Given the description of an element on the screen output the (x, y) to click on. 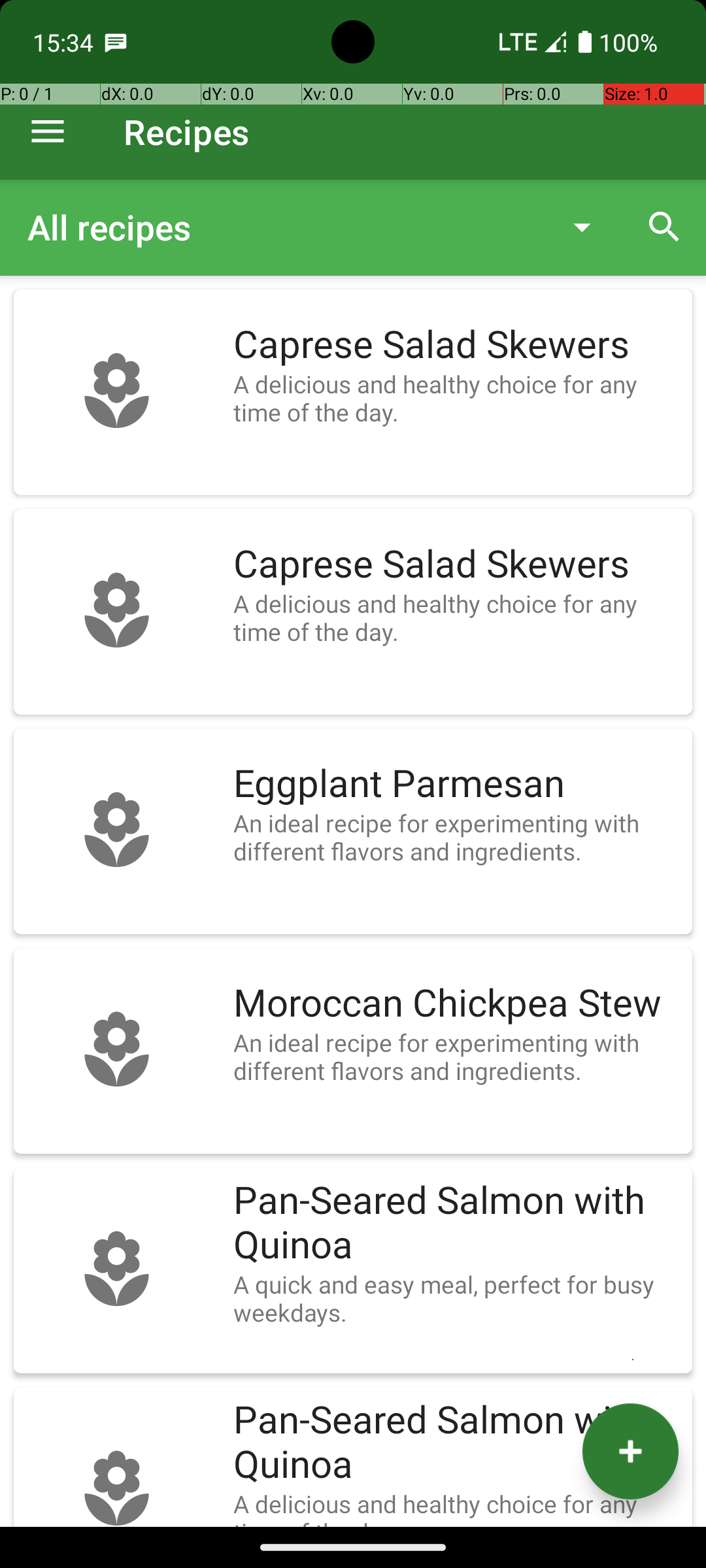
Pan-Seared Salmon with Quinoa Element type: android.widget.TextView (455, 1222)
